Given the description of an element on the screen output the (x, y) to click on. 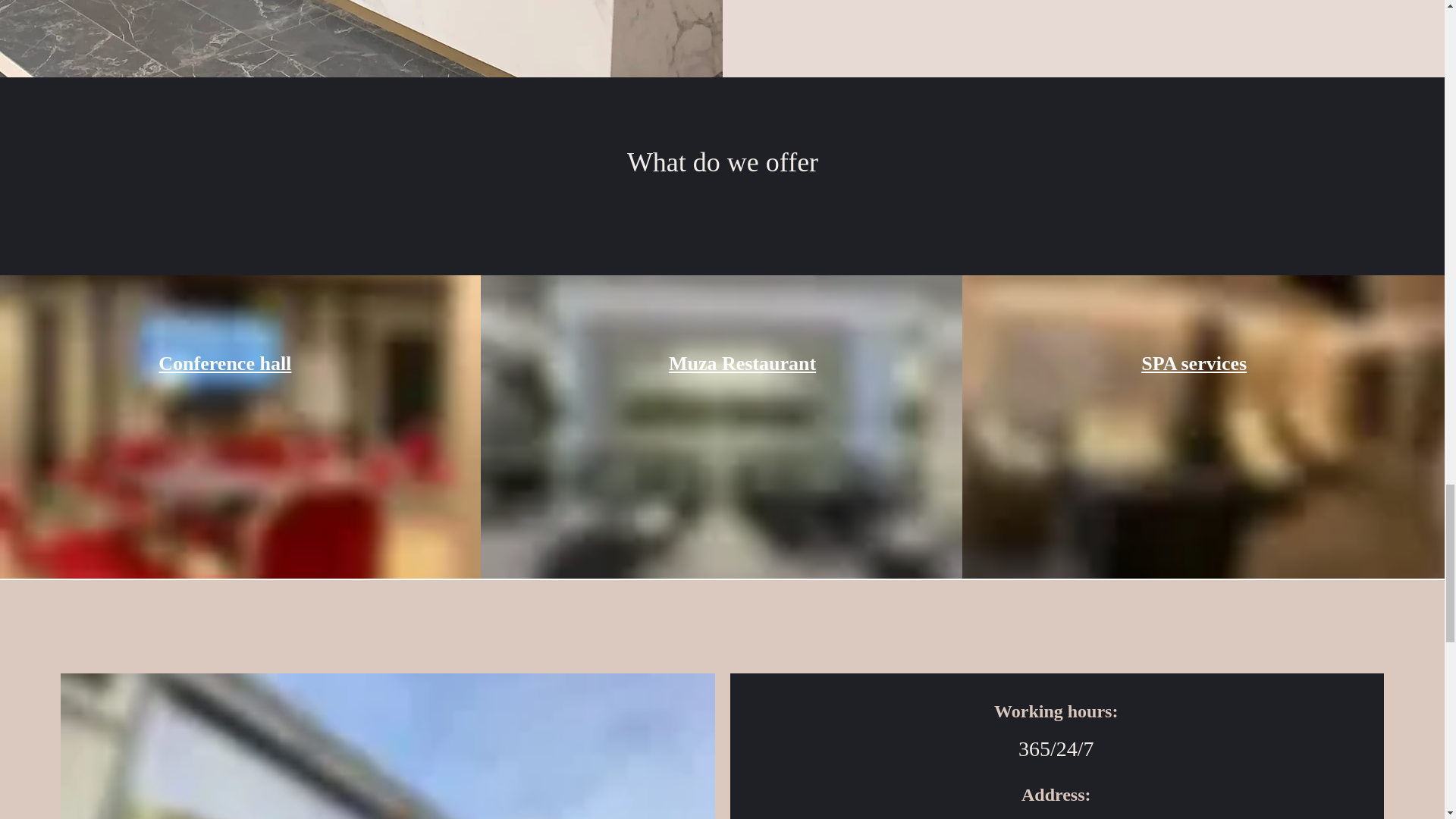
Conference hall (224, 363)
SPA services (1193, 363)
Muza Restaurant (741, 363)
